Given the description of an element on the screen output the (x, y) to click on. 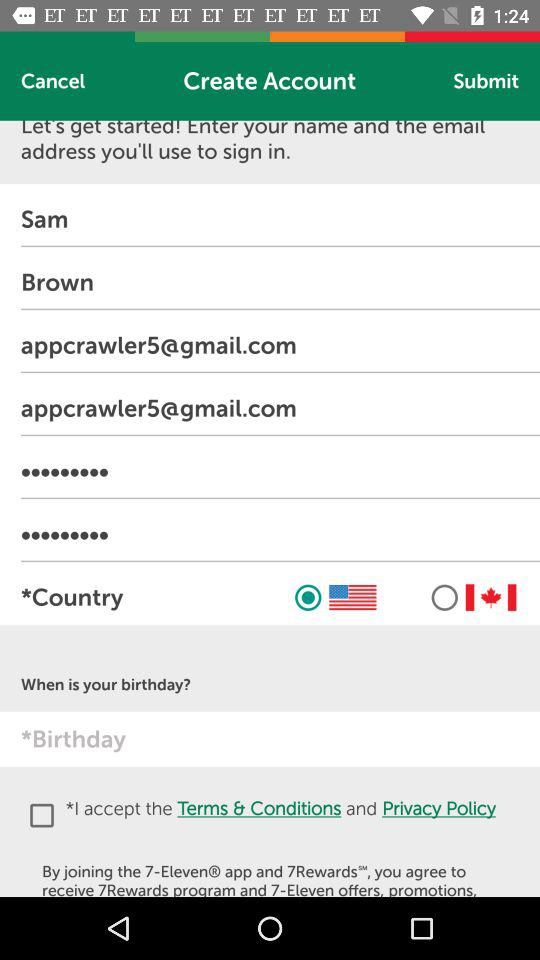
click the text from fourth row (280, 408)
select the cancel text on top left corner (53, 81)
select the text brown (280, 282)
